Given the description of an element on the screen output the (x, y) to click on. 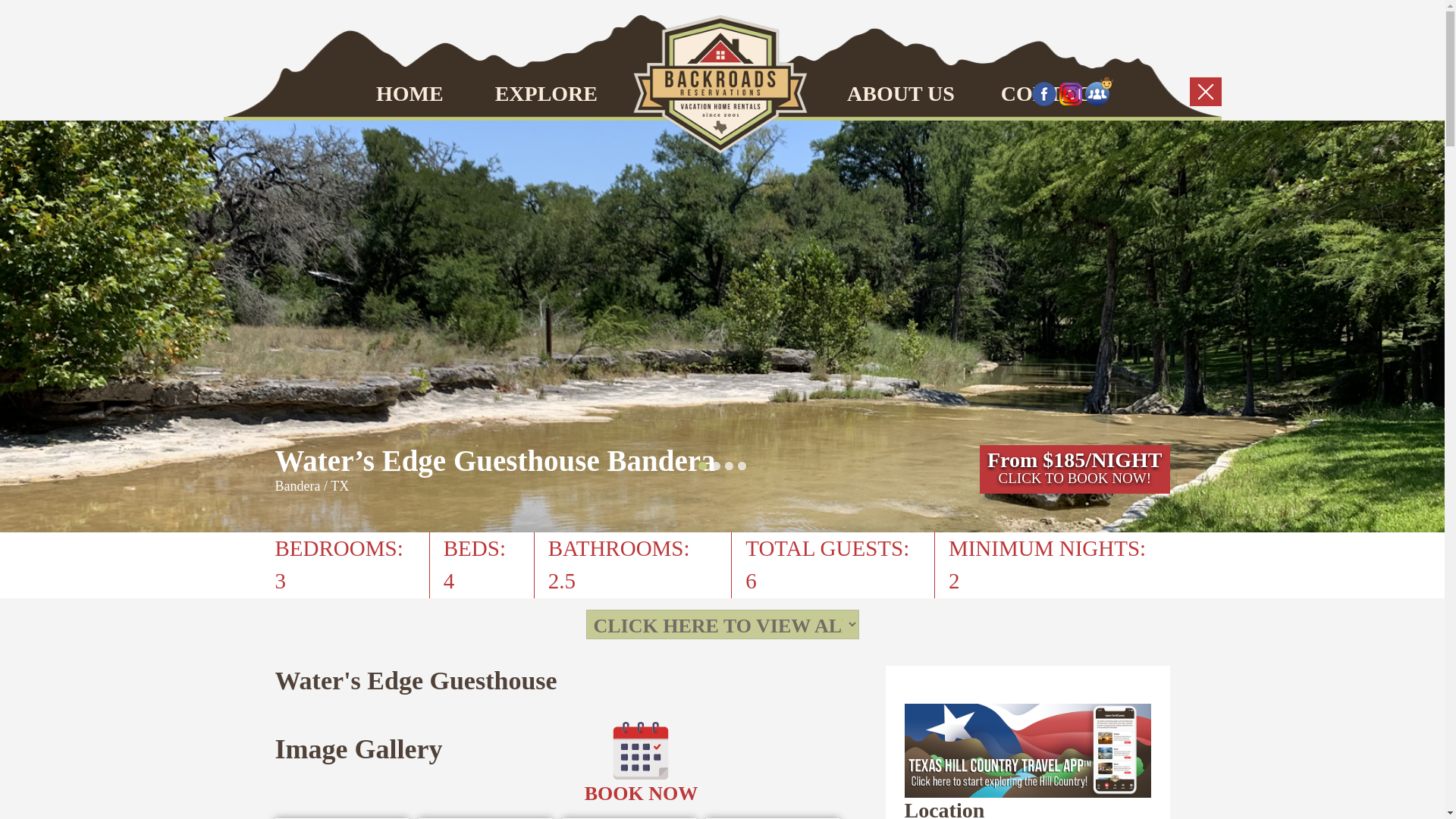
EXPLORE (542, 93)
HOME (429, 93)
